Given the description of an element on the screen output the (x, y) to click on. 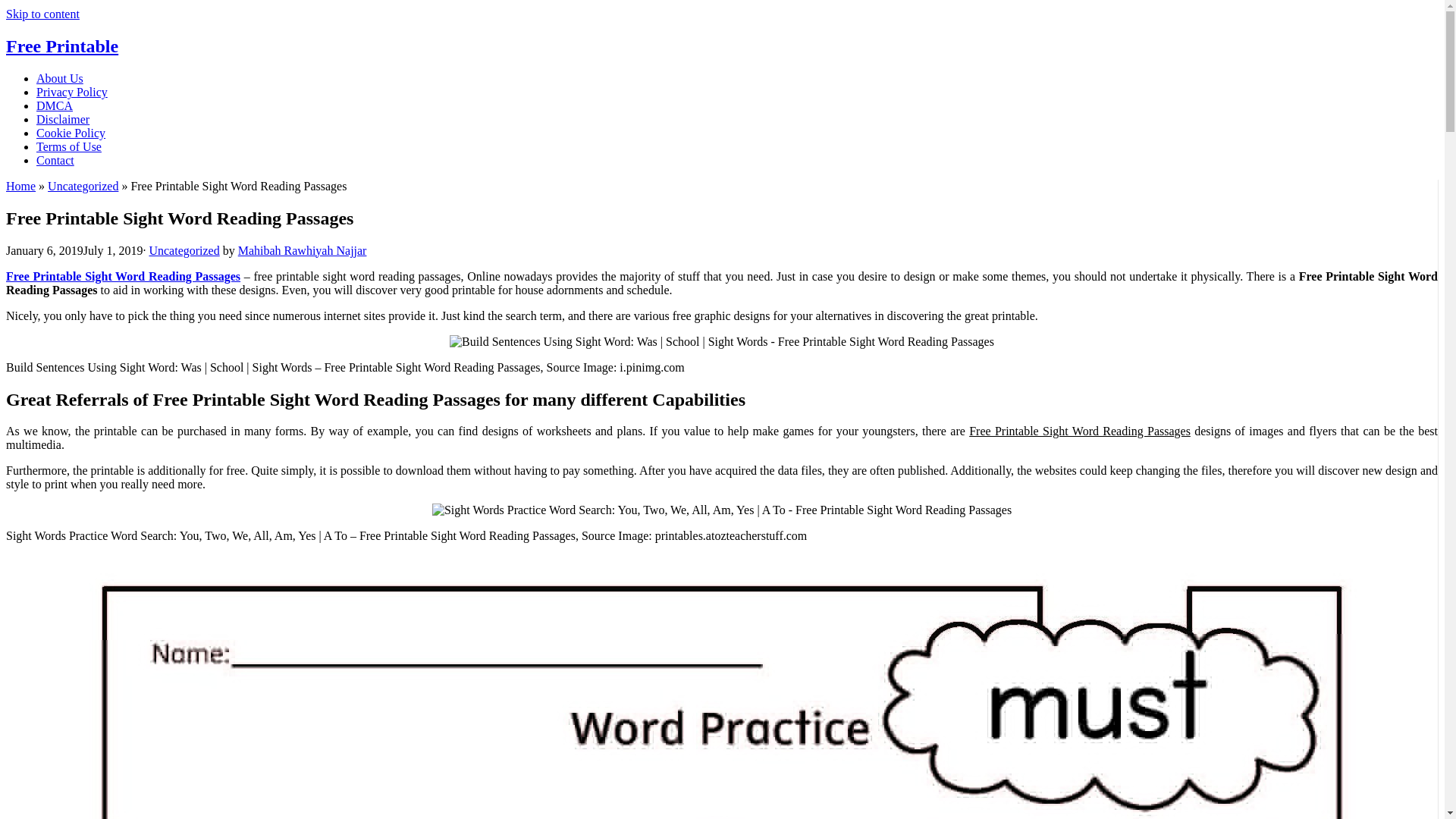
Disclaimer (62, 119)
Free Printable Sight Word Reading Passages (122, 276)
About Us (59, 78)
Terms of Use (68, 146)
Home (19, 185)
Privacy Policy (71, 91)
Free Printable (61, 46)
Cookie Policy (70, 132)
Mahibah Rawhiyah Najjar (302, 250)
Uncategorized (82, 185)
Skip to content (42, 13)
DMCA (54, 105)
